Given the description of an element on the screen output the (x, y) to click on. 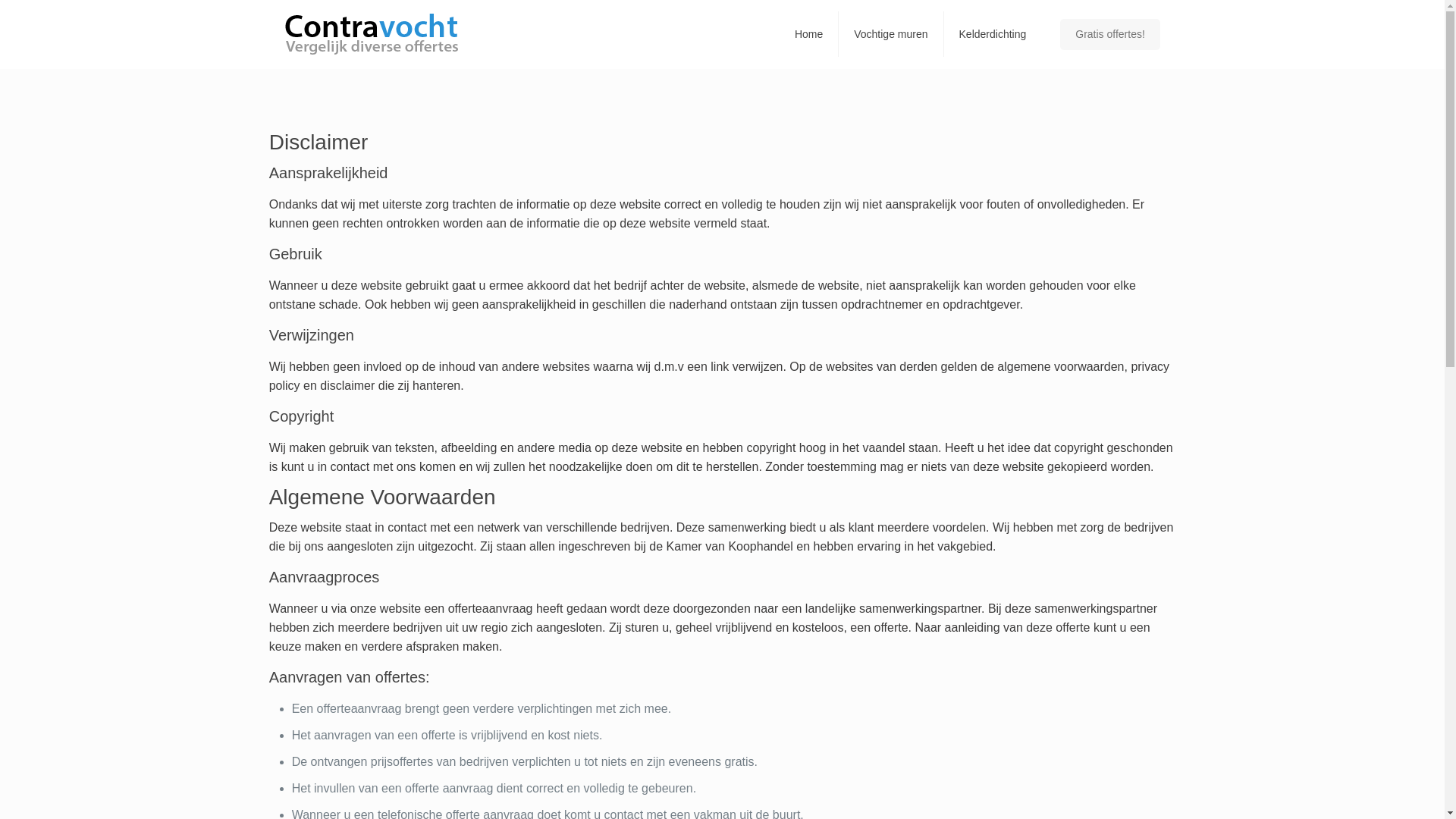
Kelderdichting Element type: text (992, 34)
Vochtige muren Element type: text (890, 34)
Gratis offertes! Element type: text (1110, 33)
Home Element type: text (808, 34)
Contravocht - specialist in vochtbestrijding Element type: hover (372, 34)
